Given the description of an element on the screen output the (x, y) to click on. 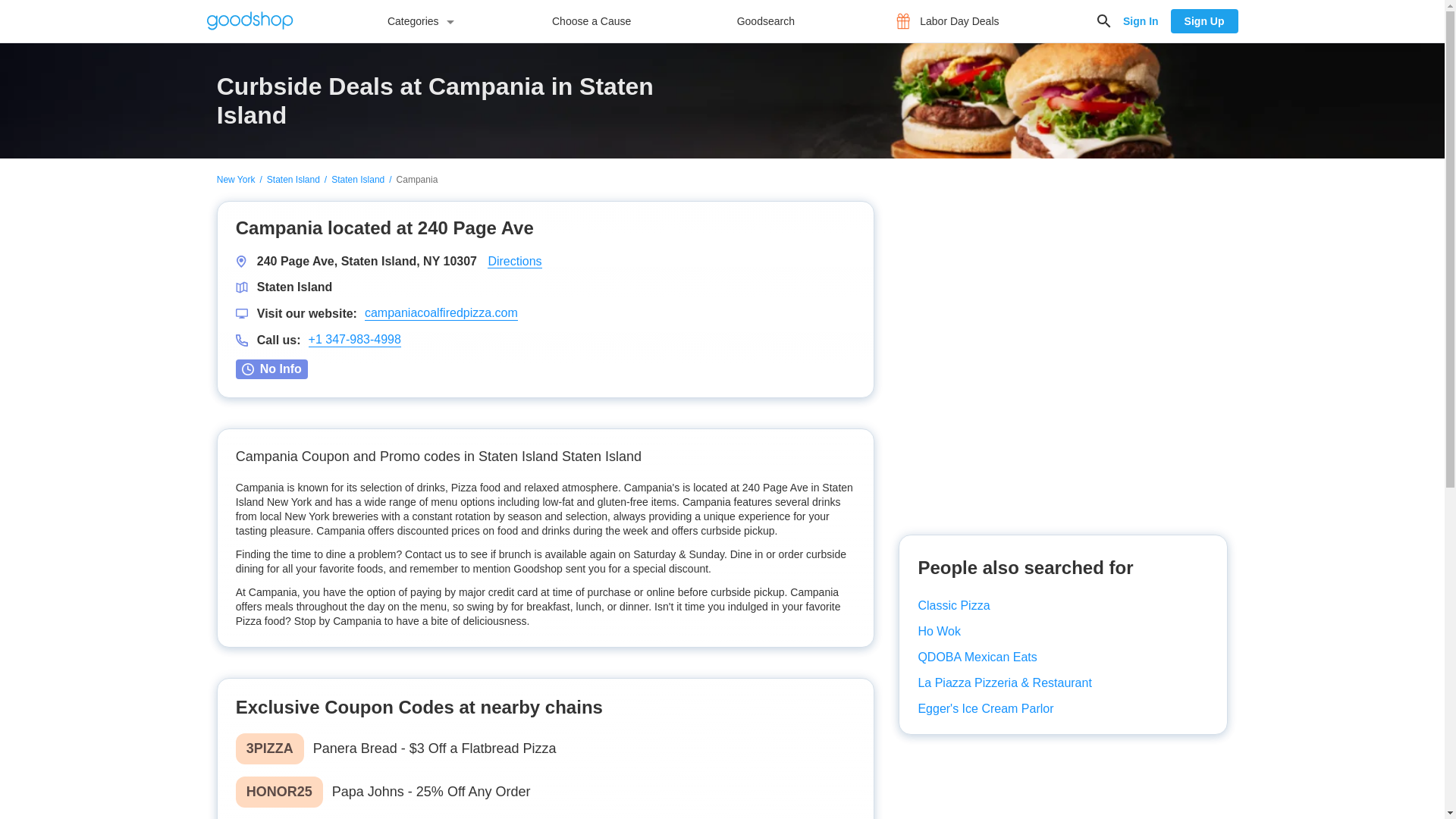
Categories (416, 21)
Goodshop (249, 20)
